Given the description of an element on the screen output the (x, y) to click on. 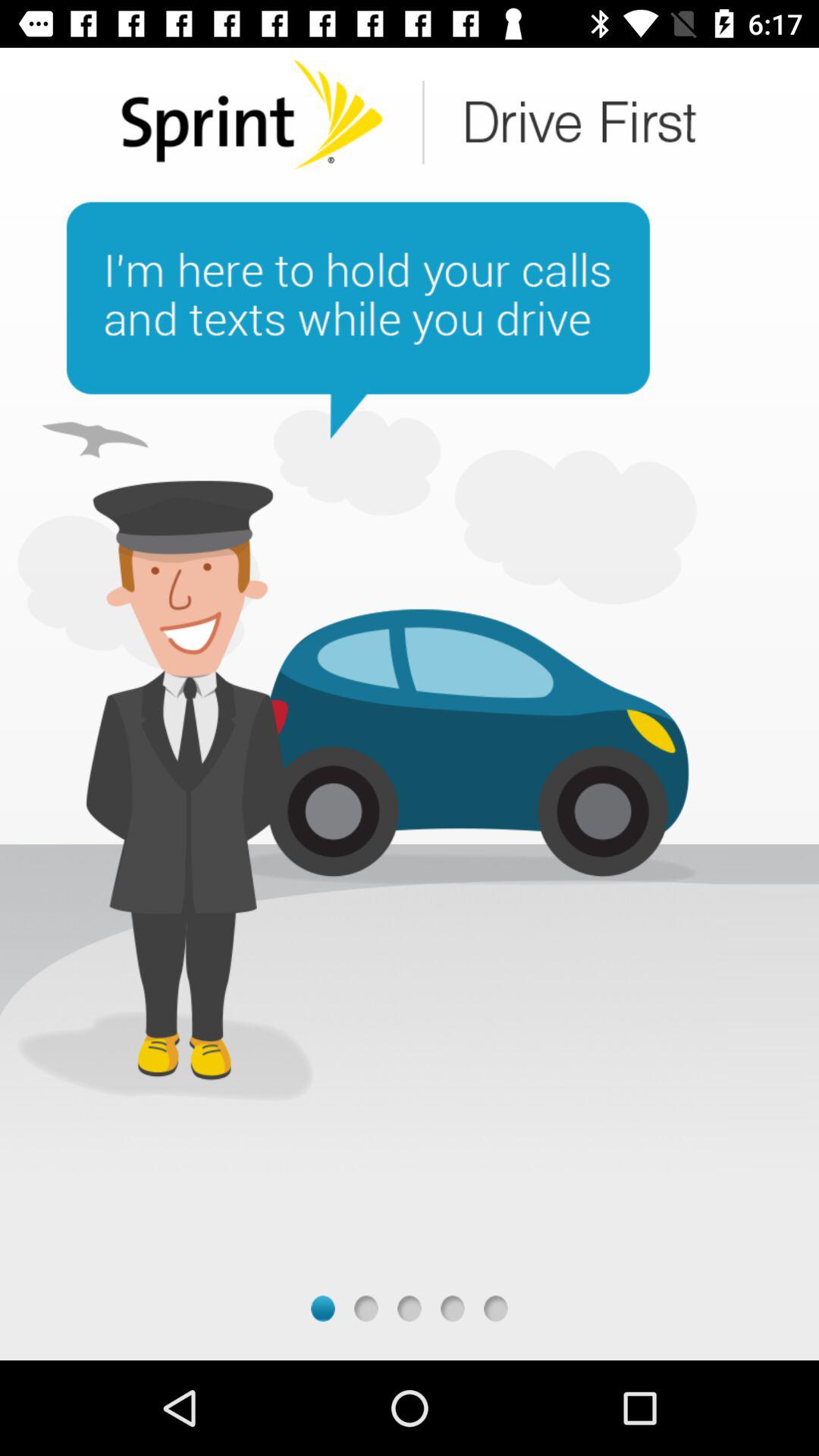
next screen (452, 1308)
